Given the description of an element on the screen output the (x, y) to click on. 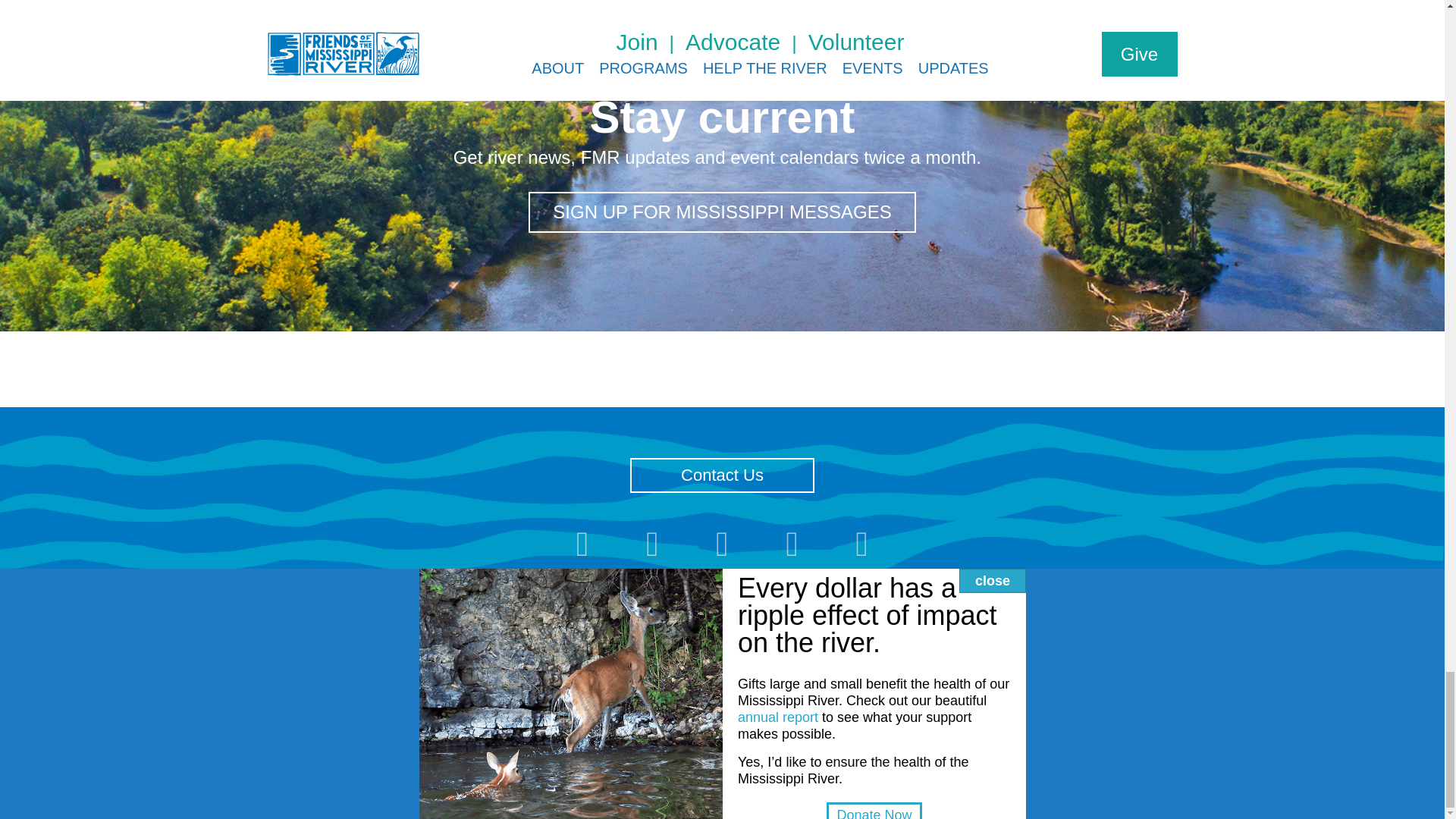
Find Friends of the Mississippi River on Instagram (652, 549)
Find Friends of the Mississippi River on Flickr (722, 549)
Find Friends of the Mississippi River on Facebook (582, 549)
